Given the description of an element on the screen output the (x, y) to click on. 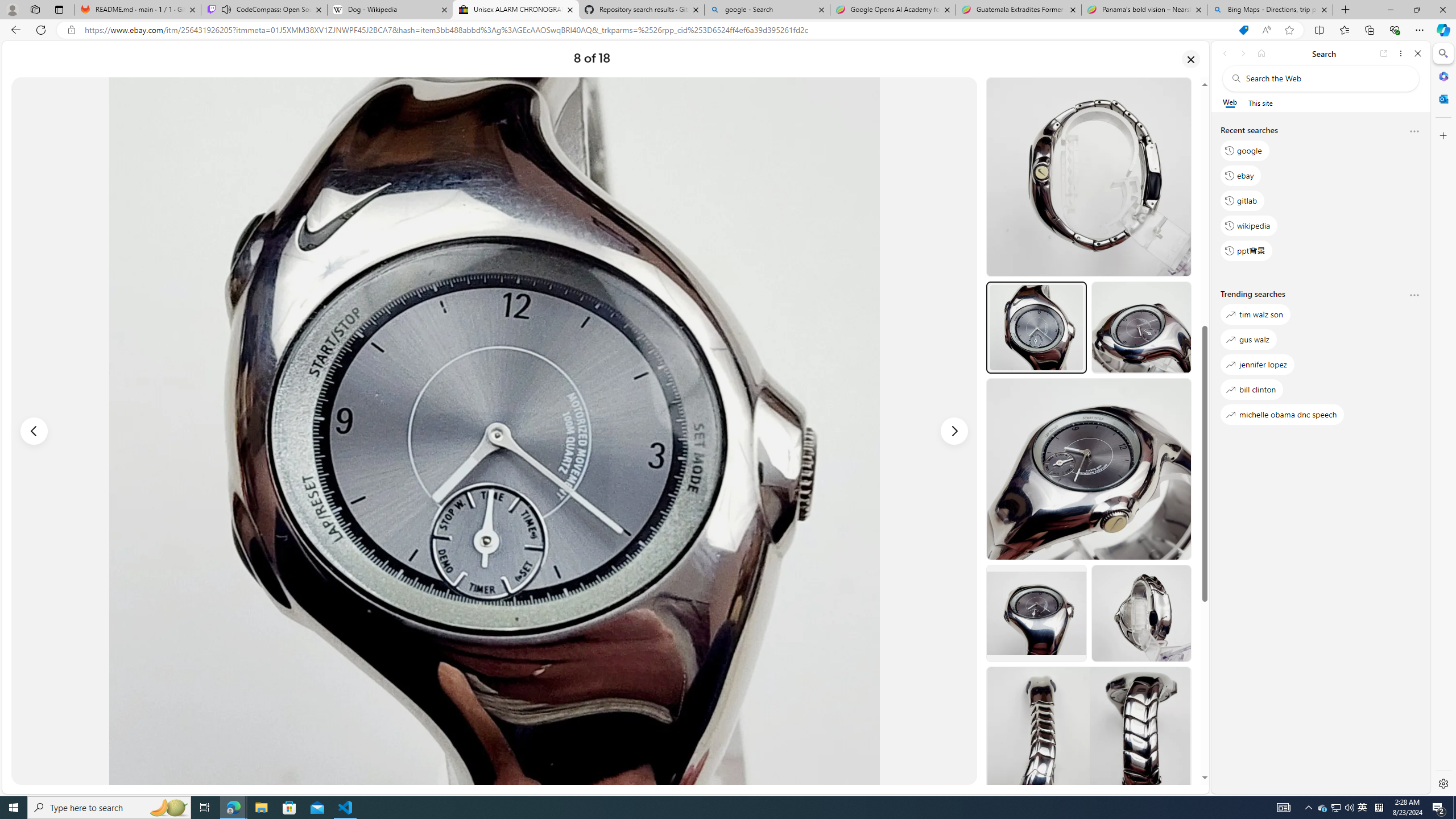
Picture 8 of 18 (493, 430)
